Given the description of an element on the screen output the (x, y) to click on. 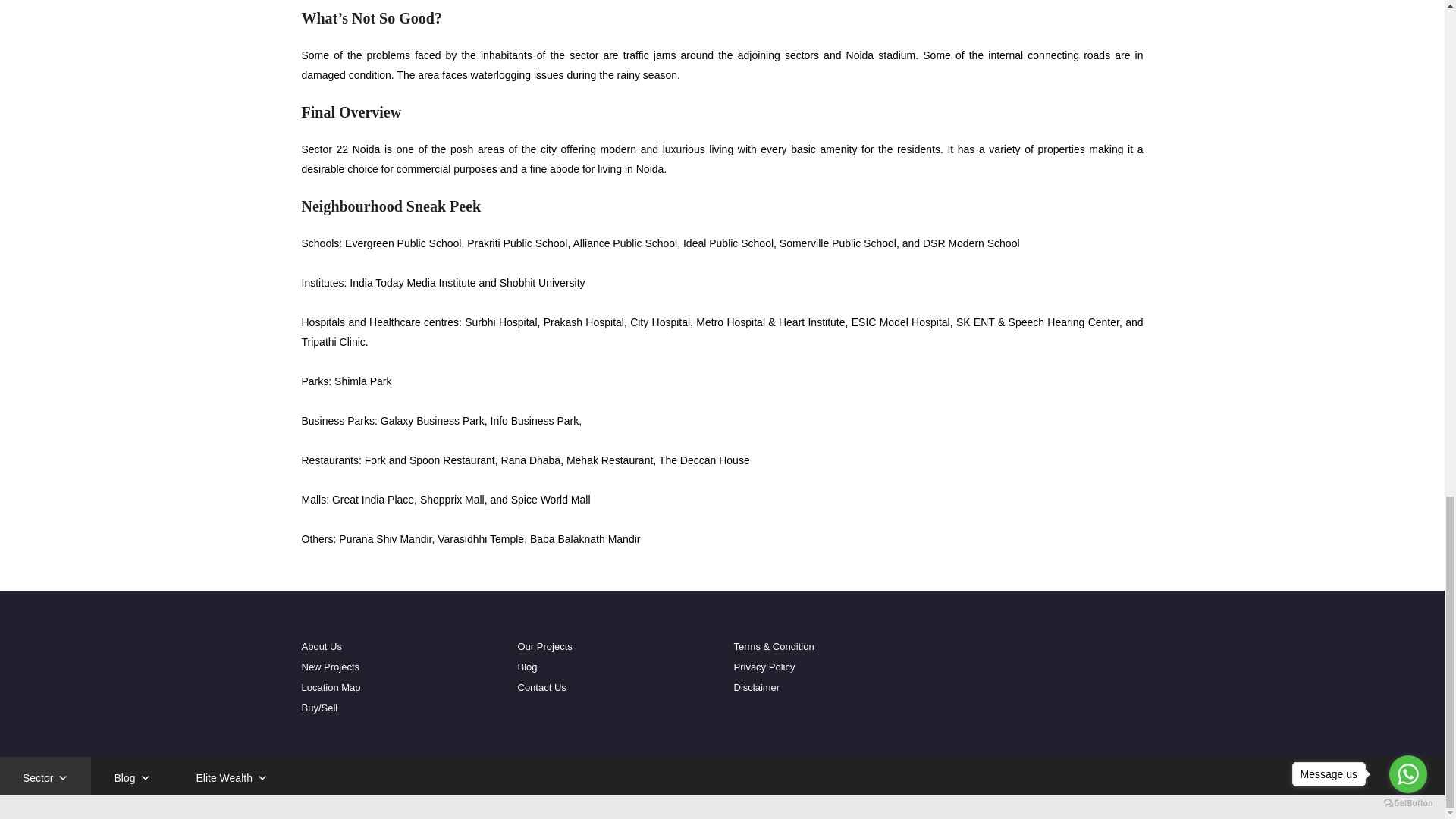
About Us (321, 645)
Location Map (331, 686)
New Projects (330, 666)
Our Projects (544, 645)
Contact Us (541, 686)
Sector (45, 775)
Disclaimer (756, 686)
Privacy Policy (763, 666)
Blog (526, 666)
